Given the description of an element on the screen output the (x, y) to click on. 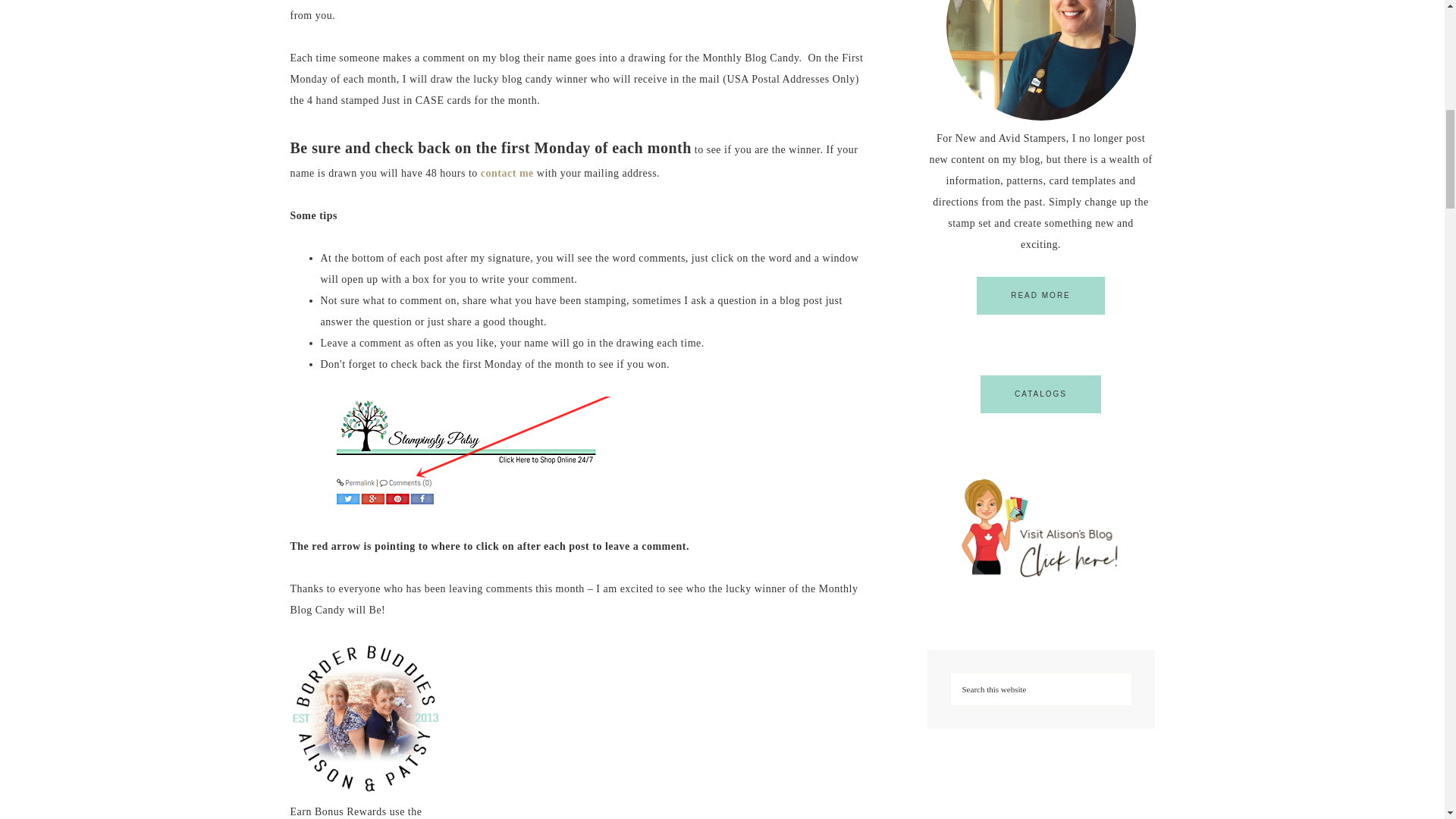
Signature (537, 451)
contact me (507, 173)
